Given the description of an element on the screen output the (x, y) to click on. 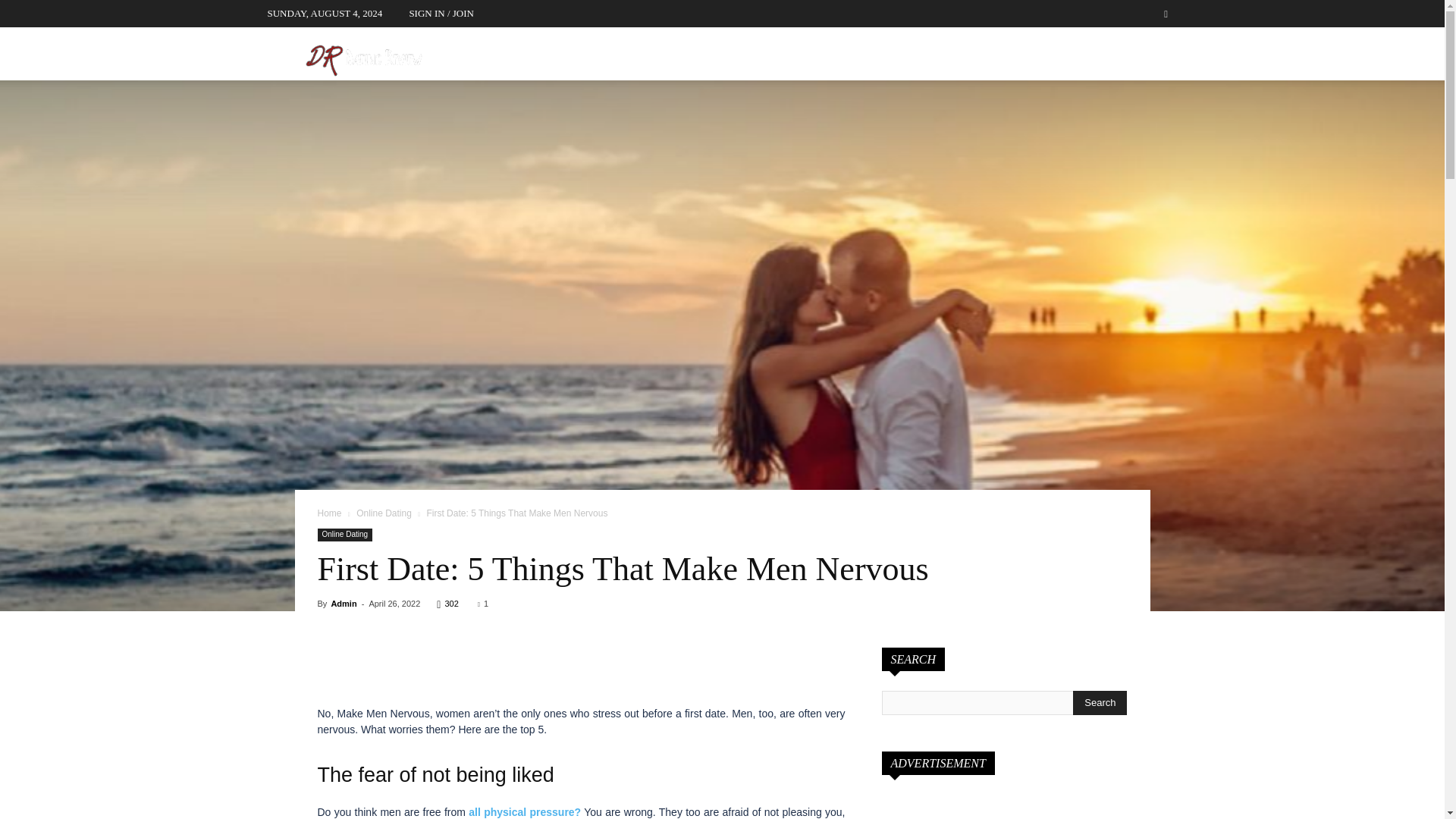
Search (1099, 702)
Dating.com Review (363, 57)
Search (1134, 70)
